Given the description of an element on the screen output the (x, y) to click on. 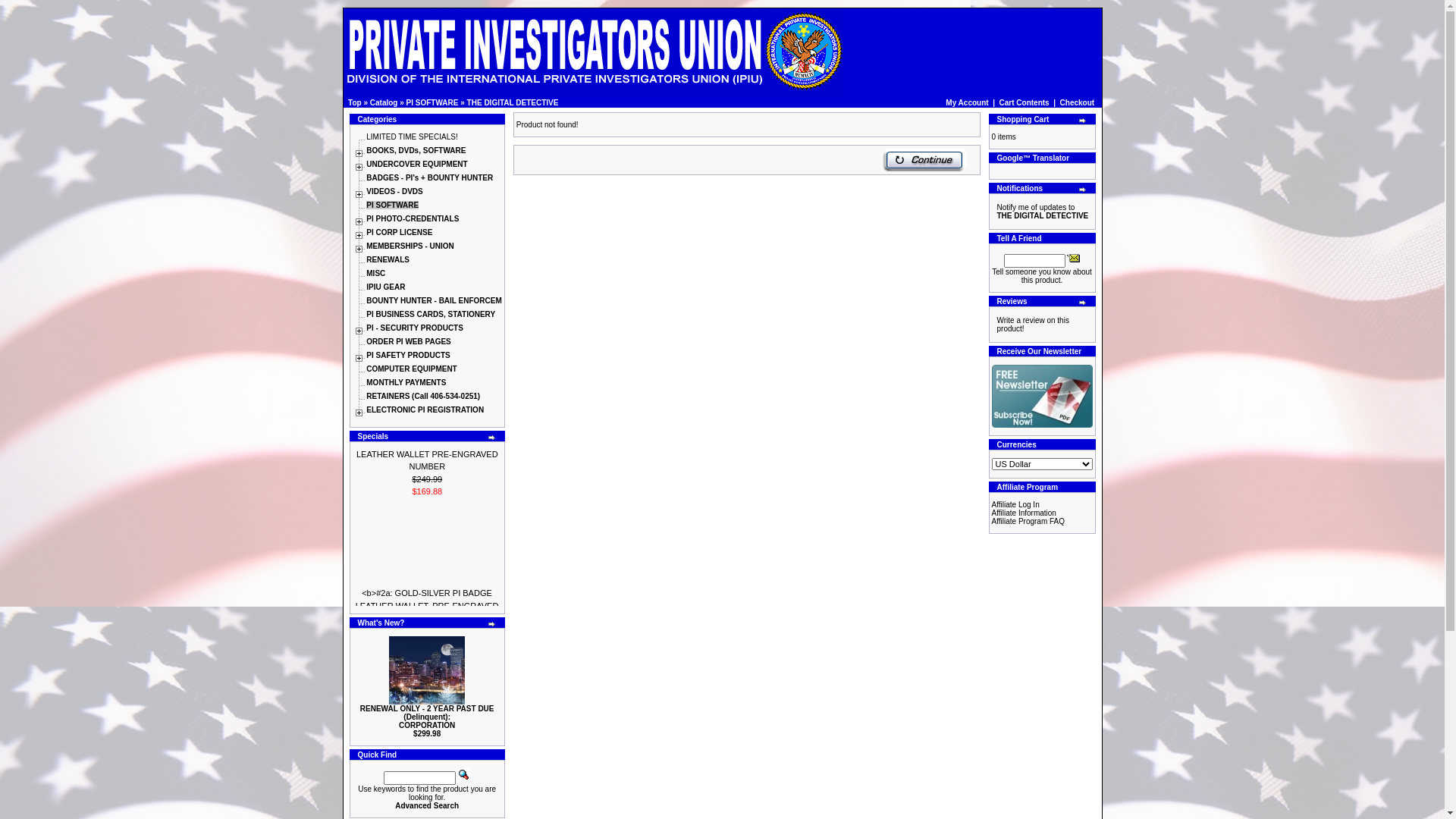
 Notifications  Element type: hover (993, 210)
ORDER PI WEB PAGES Element type: text (408, 341)
Write a review on this product! Element type: text (1032, 324)
 more  Element type: hover (491, 437)
RETAINERS (Call 406-534-0251) Element type: text (423, 396)
 more  Element type: hover (1082, 189)
IPIU GEAR Element type: text (385, 286)
 Quick Find  Element type: hover (464, 774)
 Tell A Friend  Element type: hover (1072, 257)
Affiliate Information Element type: text (1023, 512)
Cart Contents Element type: text (1024, 102)
Advanced Search Element type: text (426, 805)
MISC Element type: text (375, 273)
Affiliate Log In Element type: text (1015, 504)
VIDEOS - DVDS Element type: text (394, 191)
MEMBERSHIPS - UNION Element type: text (410, 245)
Checkout Element type: text (1077, 102)
PI - SECURITY PRODUCTS Element type: text (414, 327)
 more  Element type: hover (1082, 302)
BADGES - PI's + BOUNTY HUNTER Element type: text (429, 177)
PI SOFTWARE Element type: text (392, 204)
PI SOFTWARE Element type: text (432, 102)
My Account Element type: text (966, 102)
 Write Review  Element type: hover (993, 324)
Top Element type: text (354, 102)
PI SAFETY PRODUCTS Element type: text (407, 355)
BOOKS, DVDs, SOFTWARE Element type: text (415, 150)
 more  Element type: hover (1082, 120)
PI BUSINESS CARDS, STATIONERY Element type: text (430, 314)
UNDERCOVER EQUIPMENT Element type: text (416, 164)
 Continue  Element type: hover (924, 159)
 Private Investigators  Element type: hover (592, 52)
 more  Element type: hover (491, 623)
RENEWALS Element type: text (387, 259)
LIMITED TIME SPECIALS! Element type: text (411, 136)
PI CORP LICENSE Element type: text (399, 232)
PI PHOTO-CREDENTIALS Element type: text (412, 218)
MONTHLY PAYMENTS Element type: text (405, 382)
BOUNTY HUNTER - BAIL ENFORCEM Element type: text (434, 300)
Catalog Element type: text (384, 102)
Notify me of updates to THE DIGITAL DETECTIVE Element type: text (1042, 211)
RENEWAL ONLY - 2 YEAR PAST DUE (Delinquent):
CORPORATION Element type: text (427, 716)
ELECTRONIC PI REGISTRATION Element type: text (424, 409)
Affiliate Program FAQ Element type: text (1028, 521)
THE DIGITAL DETECTIVE Element type: text (512, 102)
COMPUTER EQUIPMENT Element type: text (411, 368)
